Given the description of an element on the screen output the (x, y) to click on. 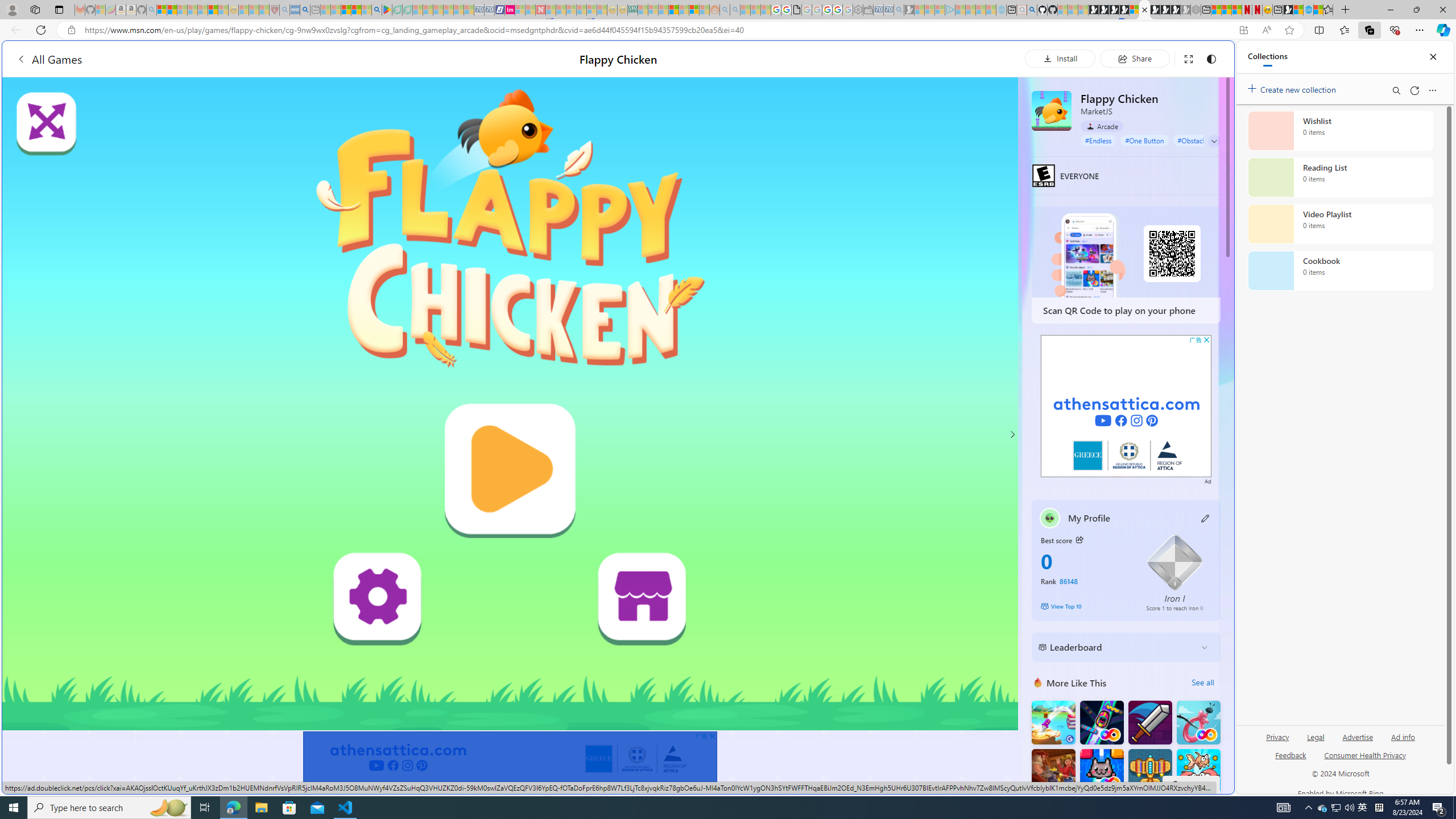
github - Search (1032, 9)
See all (1202, 682)
